Given the description of an element on the screen output the (x, y) to click on. 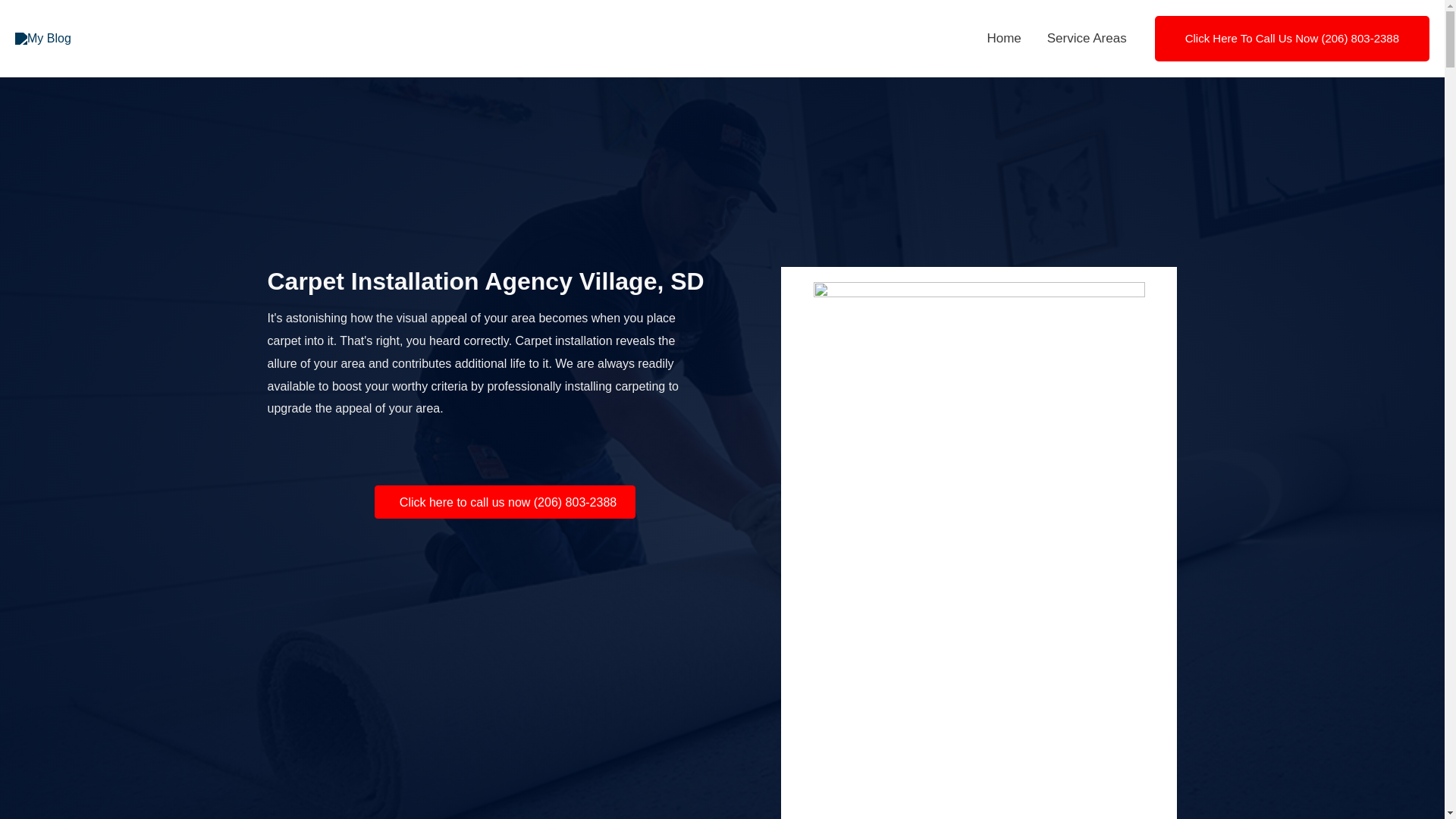
Service Areas (1086, 38)
Home (1003, 38)
